Given the description of an element on the screen output the (x, y) to click on. 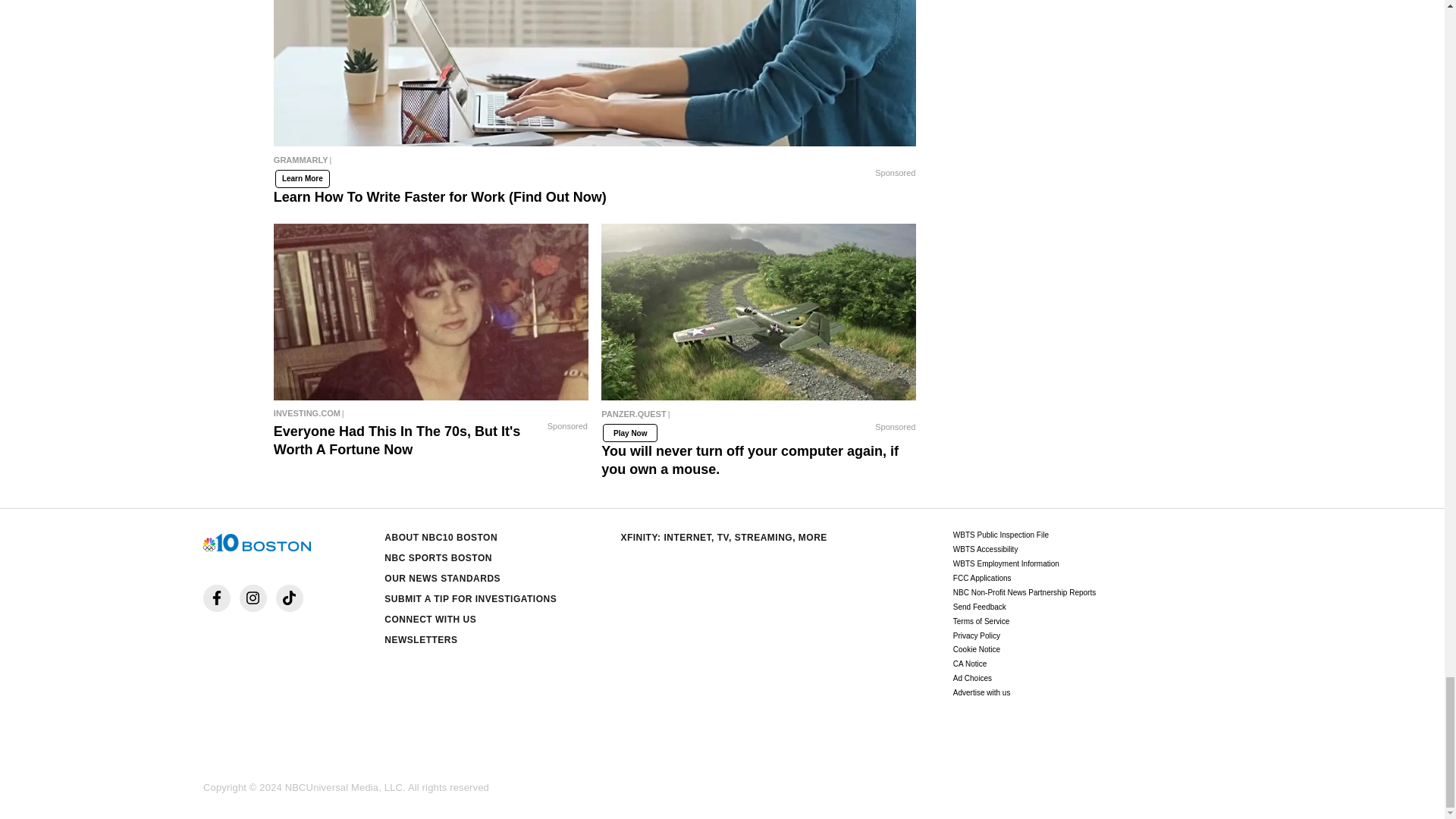
Everyone Had This In The 70s, But It's Worth A Fortune Now (430, 413)
Everyone Had This In The 70s, But It's Worth A Fortune Now (430, 312)
